Given the description of an element on the screen output the (x, y) to click on. 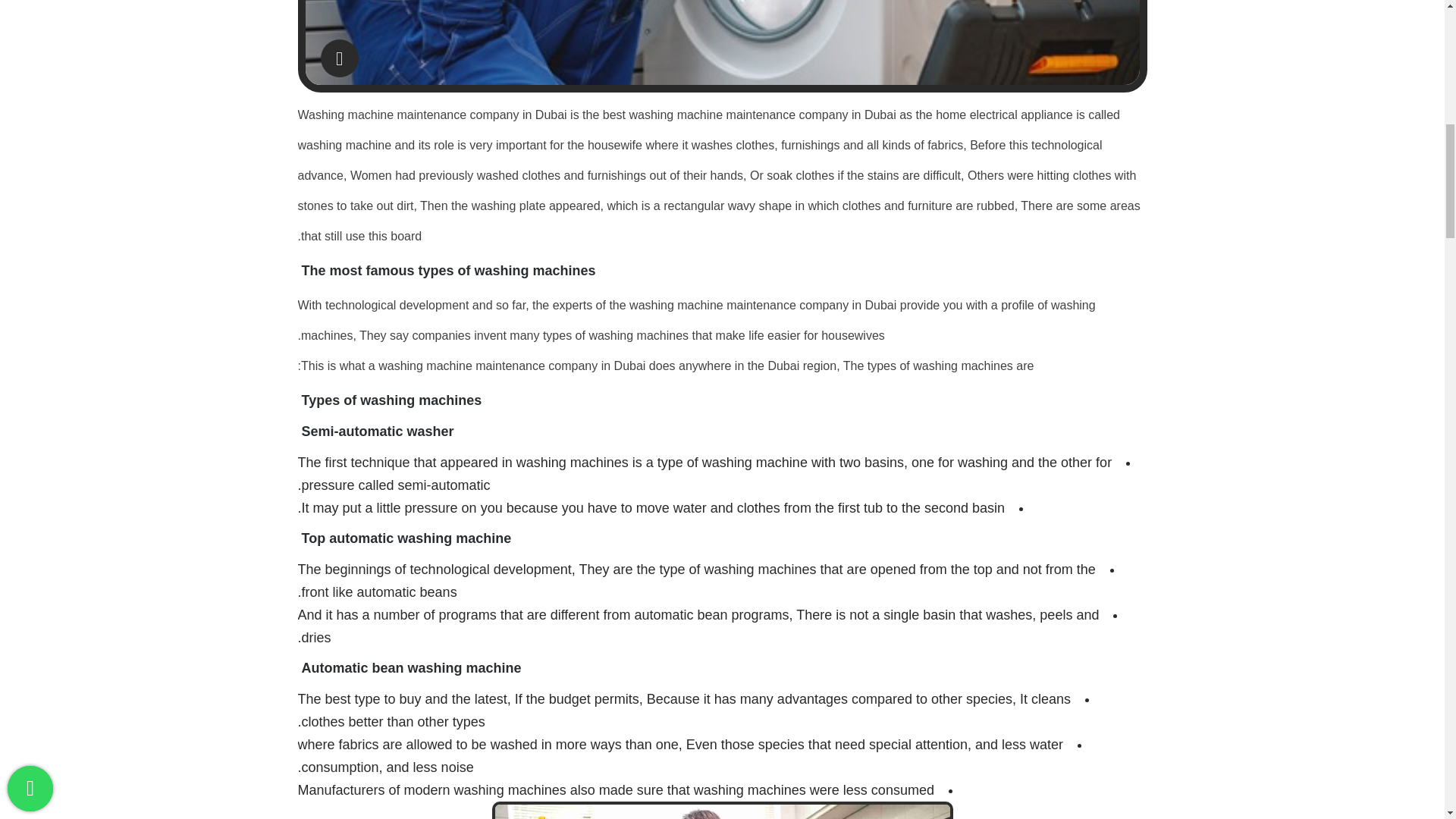
Washing machine maintenance company in Dubai (721, 42)
